Given the description of an element on the screen output the (x, y) to click on. 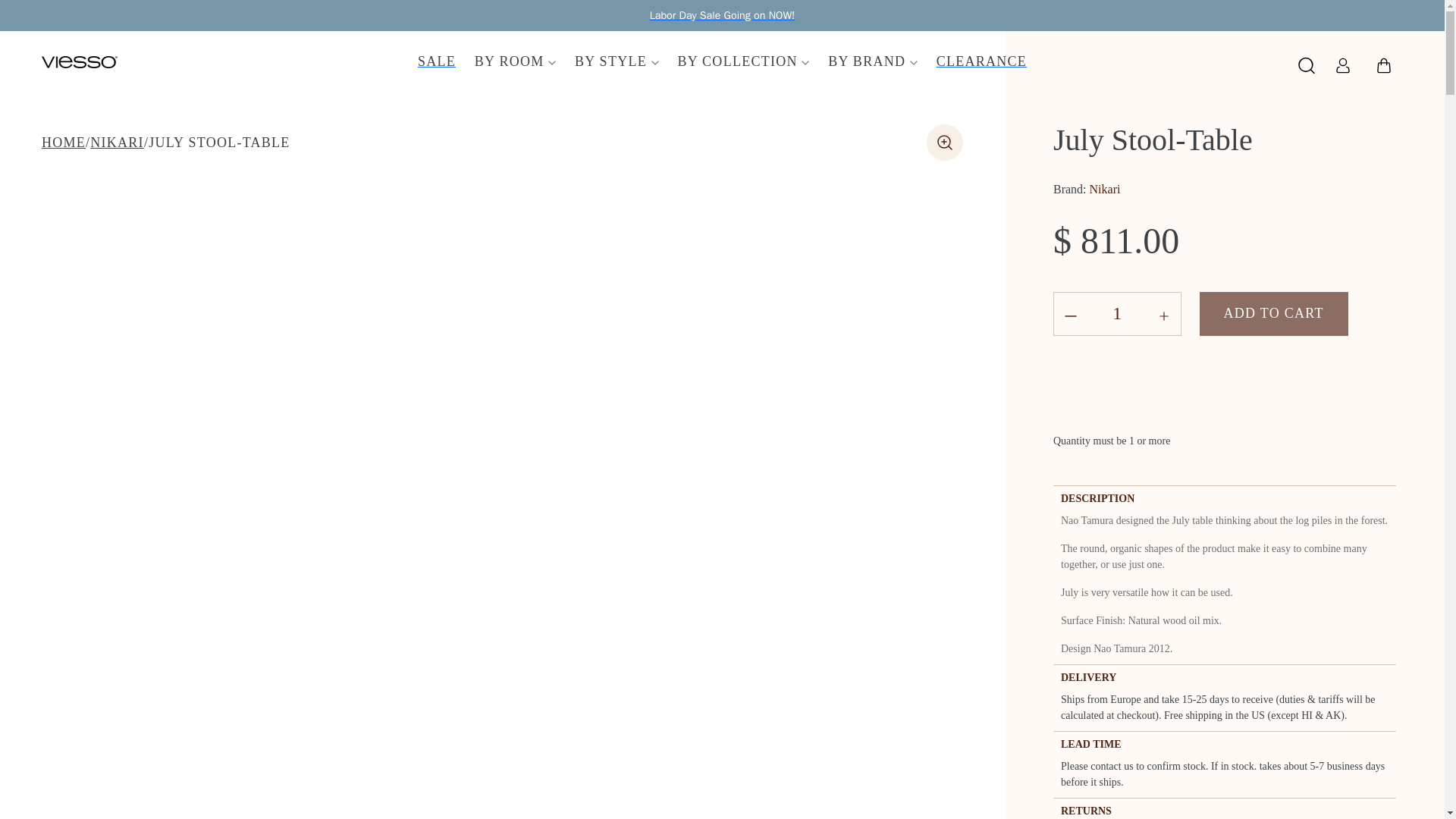
1 (1117, 313)
Home (63, 142)
BY ROOM (515, 61)
SALE (436, 61)
